Given the description of an element on the screen output the (x, y) to click on. 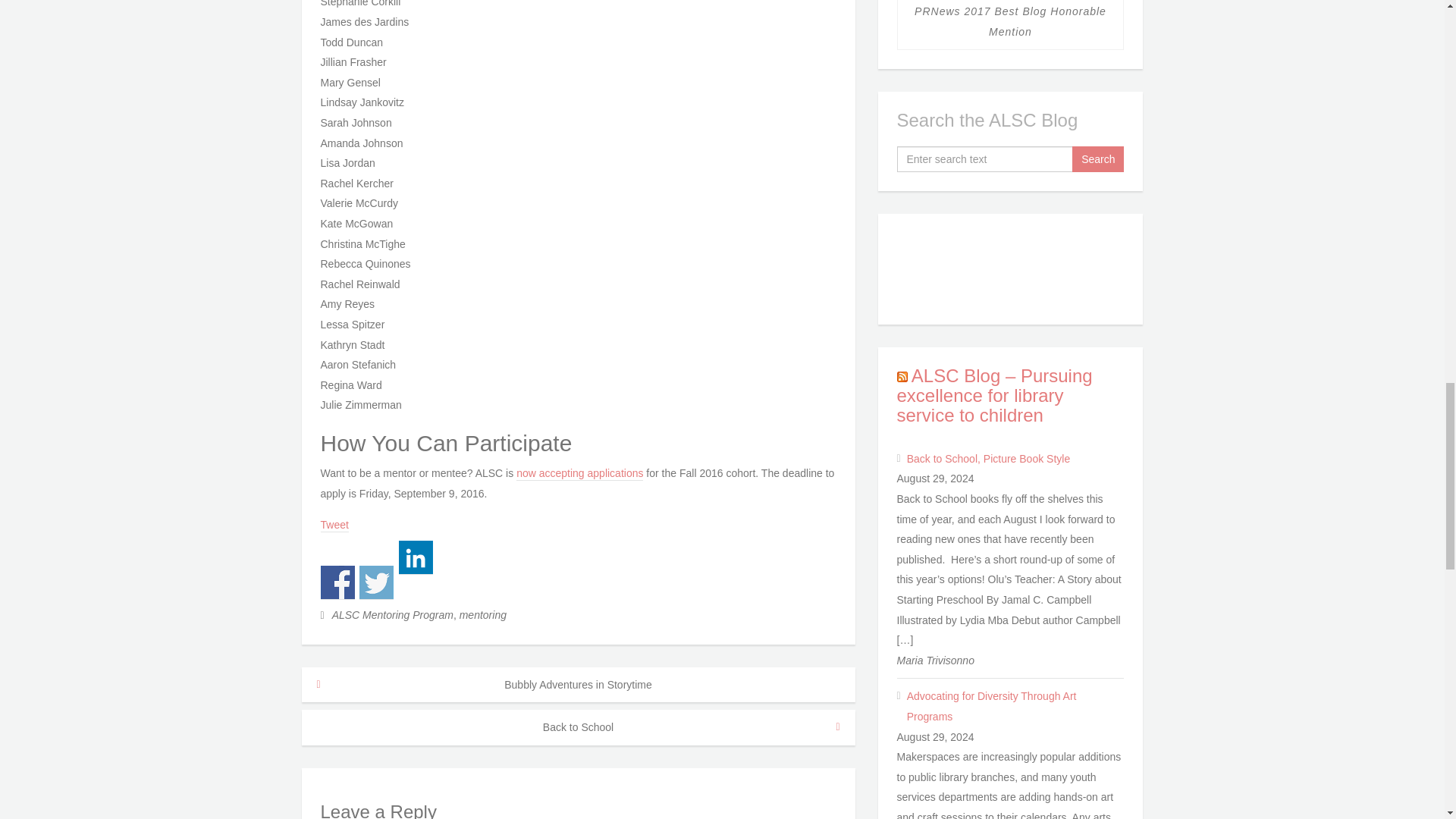
Advocating for Diversity Through Art Programs (1015, 706)
Search (1097, 158)
Back to School, Picture Book Style (1015, 458)
Share on Linkedin (415, 557)
now accepting applications (579, 473)
Back to School (578, 727)
ALSC Mentoring Program (391, 614)
Bubbly Adventures in Storytime (578, 684)
Tweet (333, 525)
Share on Facebook (336, 582)
